Given the description of an element on the screen output the (x, y) to click on. 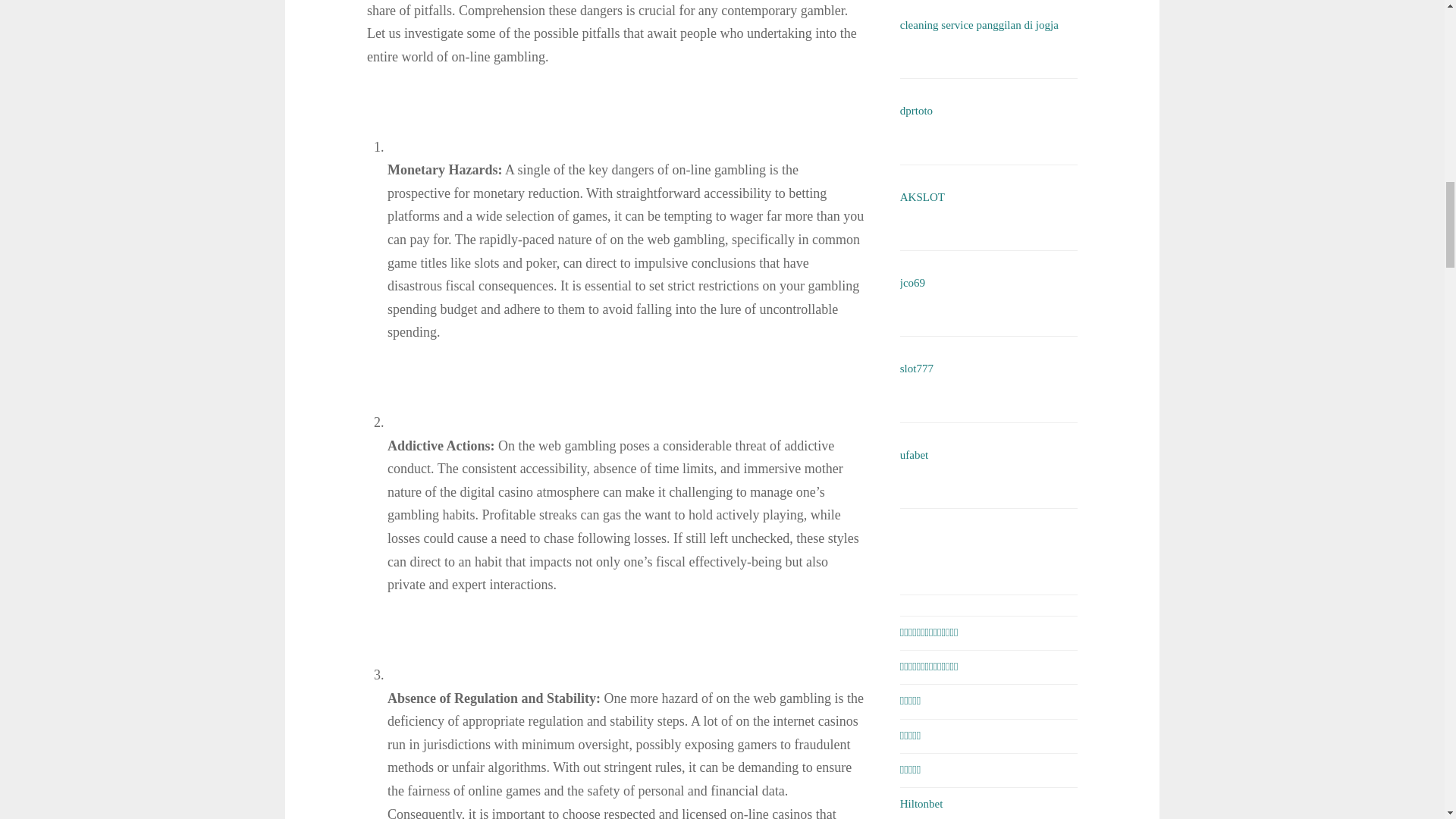
dprtoto (916, 110)
cleaning service panggilan di jogja (978, 24)
